Given the description of an element on the screen output the (x, y) to click on. 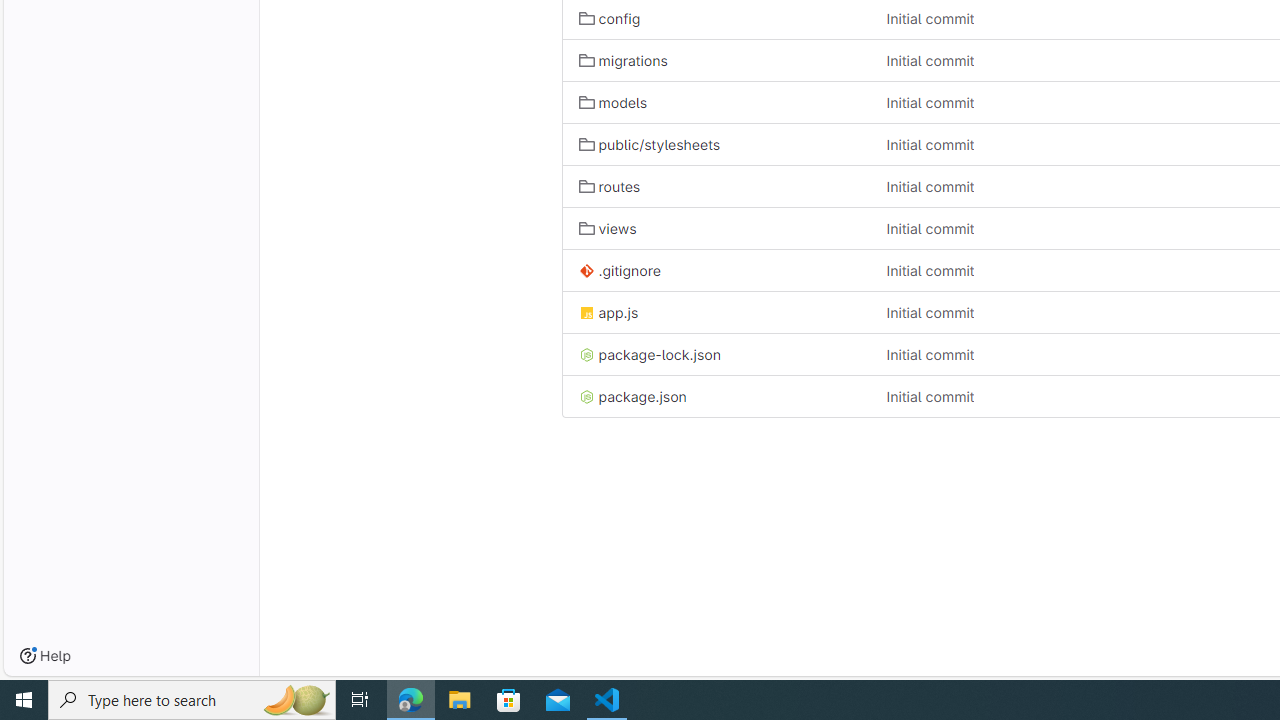
migrations (623, 60)
package-lock.json (649, 354)
Initial commit (1024, 396)
config (609, 18)
routes (609, 186)
app.js (608, 312)
Initial commit (930, 396)
migrations (715, 60)
package.json (715, 396)
routes (715, 186)
models (612, 102)
public/stylesheets (715, 144)
package.json (632, 396)
Class: s16 position-relative file-icon (586, 397)
Help (45, 655)
